Given the description of an element on the screen output the (x, y) to click on. 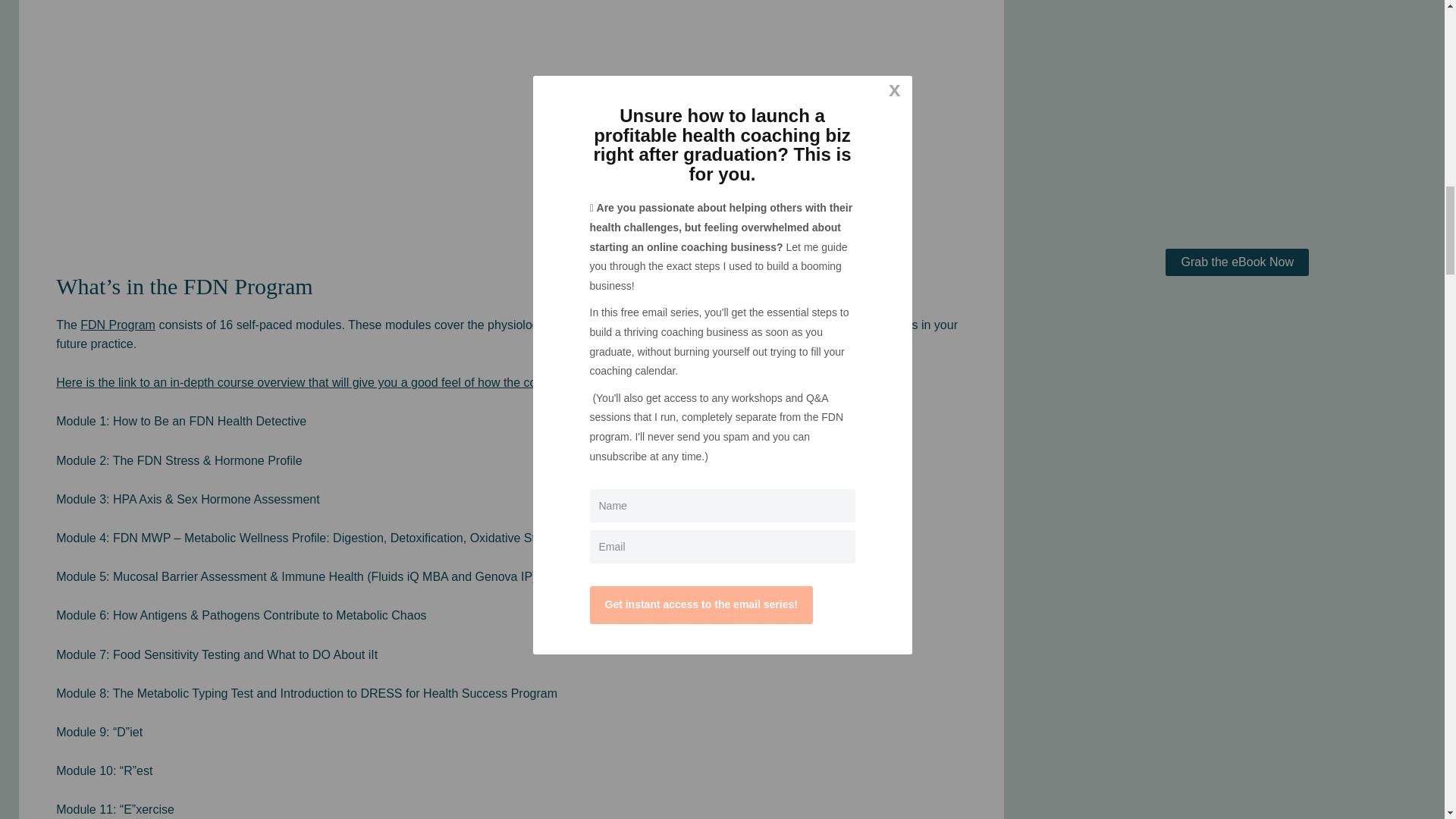
FDN Program (117, 324)
